Given the description of an element on the screen output the (x, y) to click on. 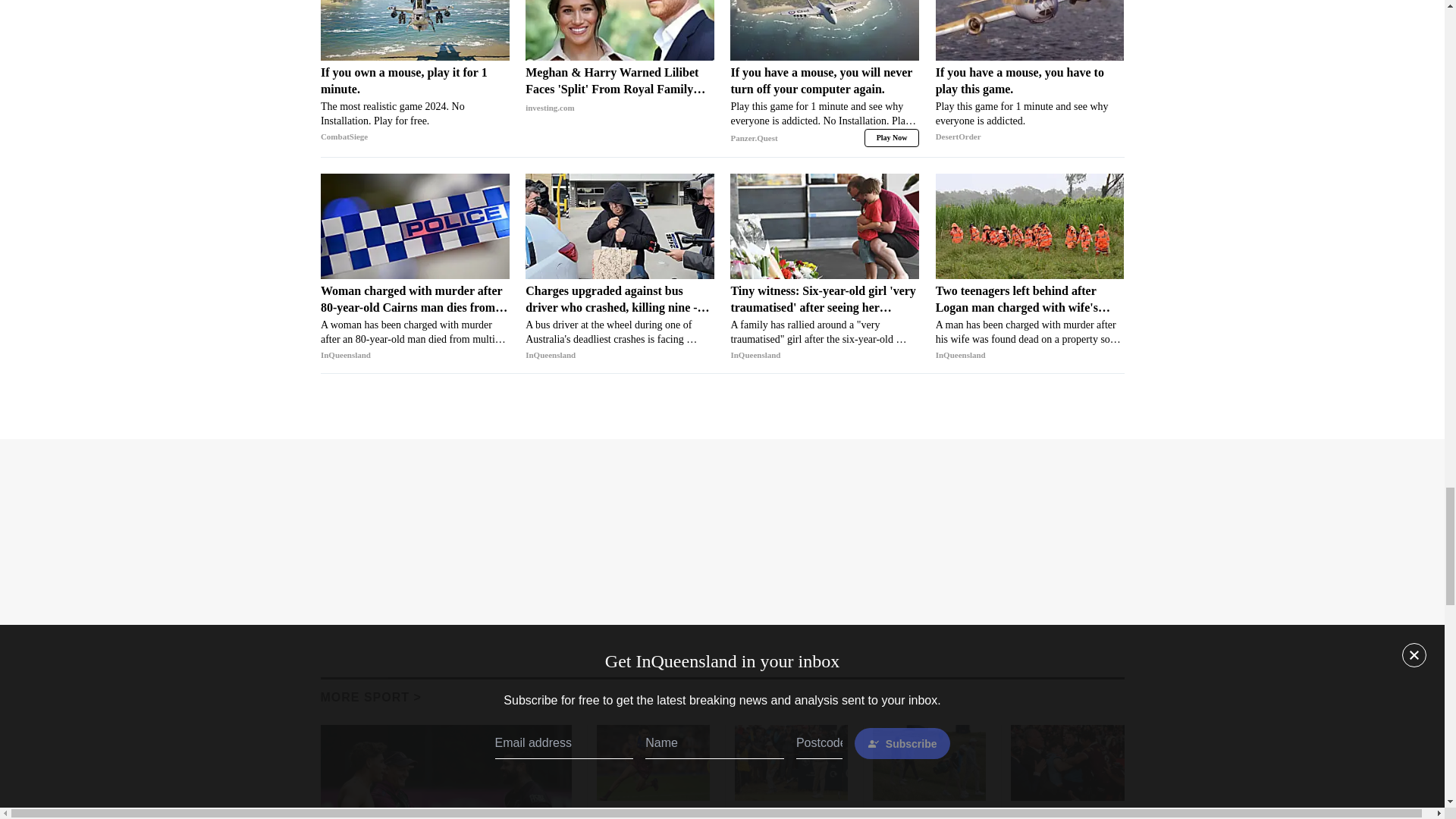
If you own a mouse, play it for 1 minute. (414, 104)
If you own a mouse, play it for 1 minute. (414, 30)
